Given the description of an element on the screen output the (x, y) to click on. 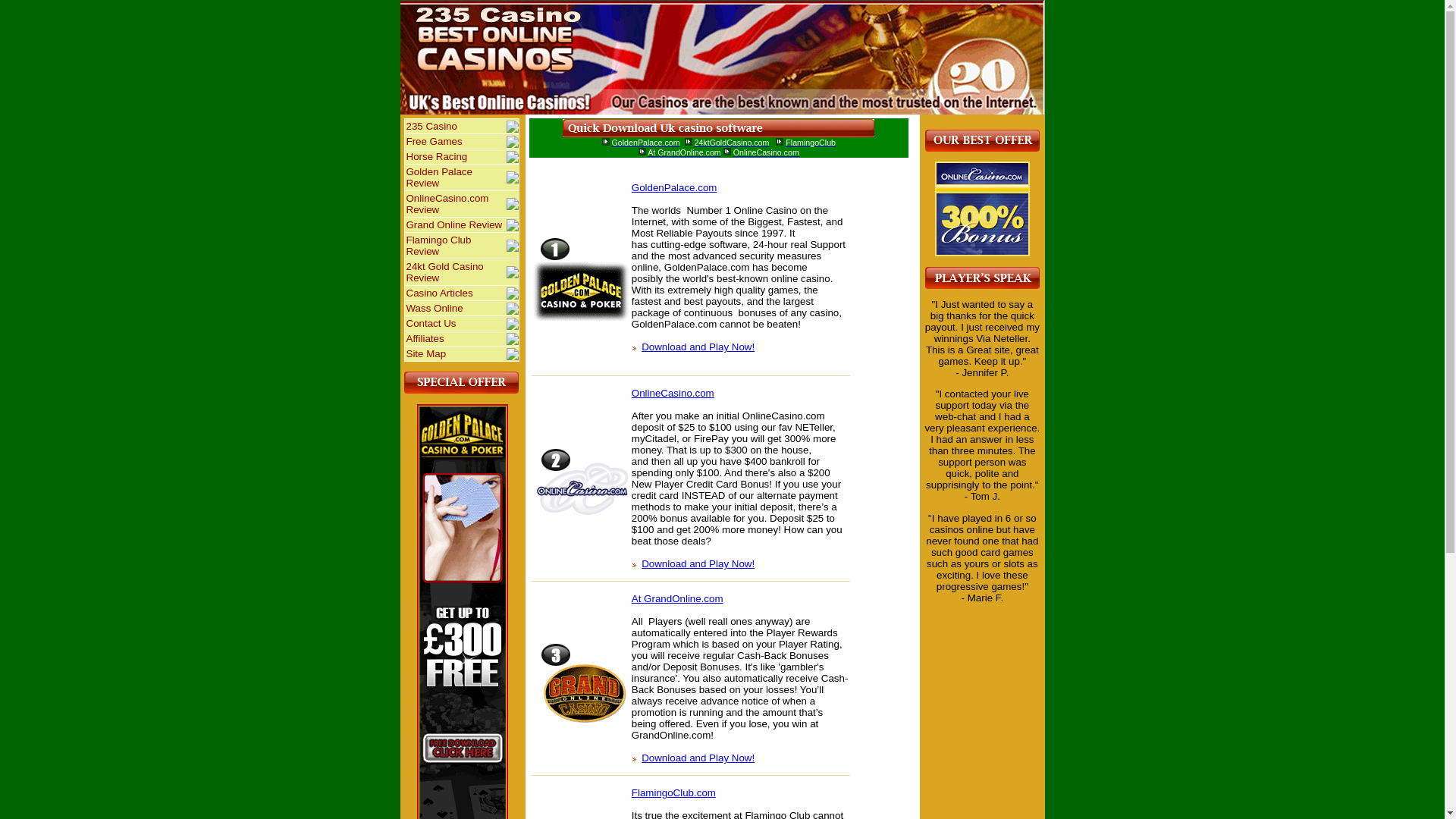
GoldenPalace.com Element type: text (674, 187)
Free Games Element type: text (455, 141)
casino download Element type: hover (642, 151)
Download and Play Now! Element type: text (697, 757)
Site Map Element type: text (455, 353)
OnlineCasino.com Element type: text (766, 151)
Contact Us Element type: text (455, 323)
OnlineCasino.com Review Element type: text (455, 203)
casino download Element type: hover (718, 128)
Wass Online Element type: text (455, 307)
FlamingoClub.com Element type: text (673, 792)
235 Casino Element type: text (455, 125)
Flamingo Club Review Element type: text (455, 245)
24ktGoldCasino.com Element type: text (730, 142)
FlamingoClub Element type: text (810, 142)
GoldenPalace.com Element type: text (645, 142)
24kt Gold Casino Review Element type: text (455, 271)
235 casino Element type: hover (982, 208)
Download and Play Now! Element type: text (697, 346)
Affiliates Element type: text (455, 338)
At GrandOnline.com Element type: text (677, 598)
235 casino Element type: hover (982, 140)
Horse Racing Element type: text (455, 156)
Grand Online Review Element type: text (455, 224)
Casino Articles Element type: text (455, 292)
OnlineCasino.com Element type: text (672, 392)
At GrandOnline.com Element type: text (684, 151)
casino special offer Element type: hover (460, 382)
casino talk Element type: hover (982, 277)
Golden Palace Review Element type: text (455, 177)
Download and Play Now! Element type: text (697, 563)
